Given the description of an element on the screen output the (x, y) to click on. 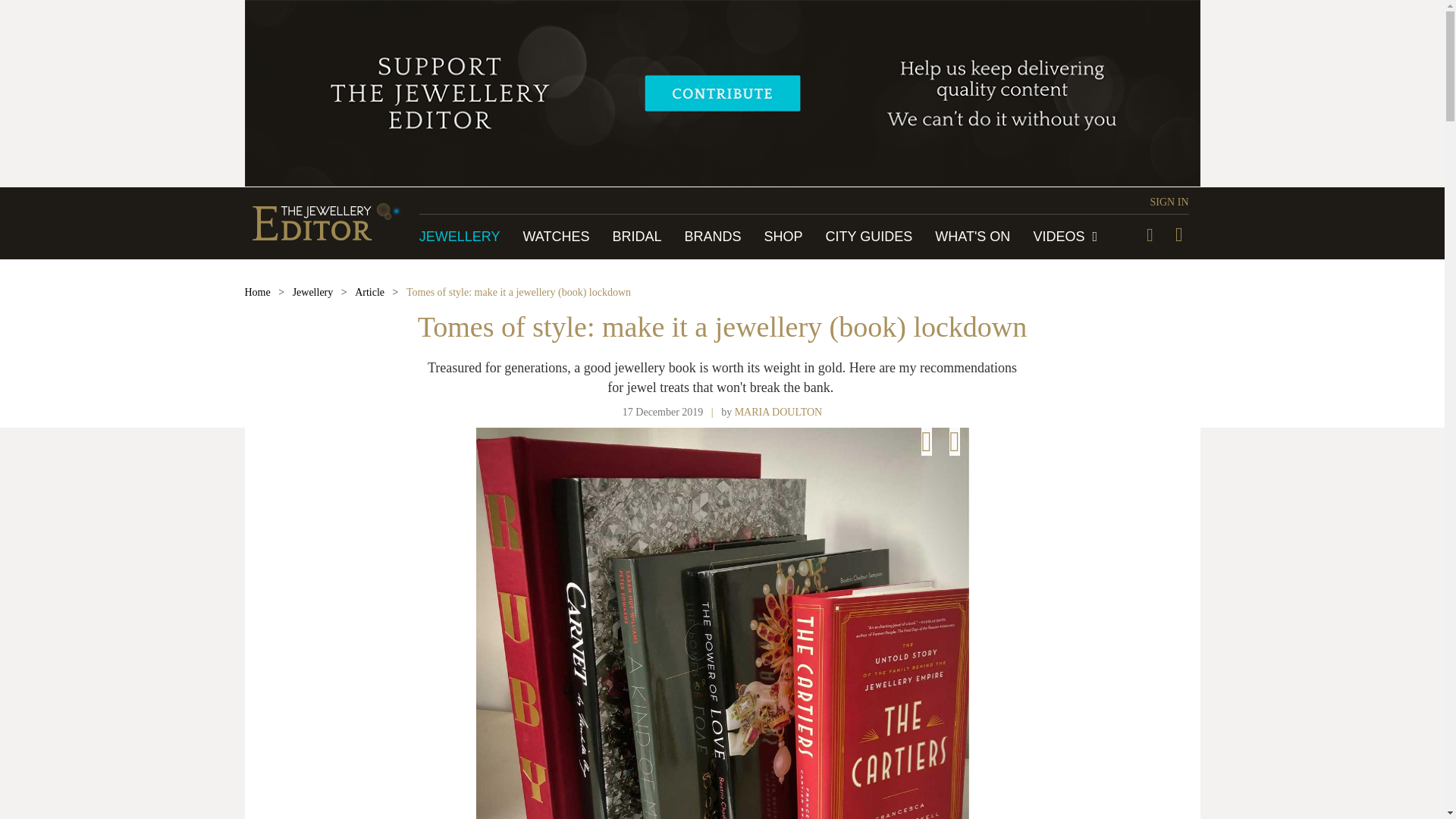
Home (256, 292)
WATCHES (555, 236)
CITY GUIDES (868, 236)
Article (369, 292)
Videos (1064, 236)
Go to Shop (783, 236)
WHAT'S ON (972, 236)
BRANDS (712, 236)
Go to Brands (712, 236)
Jewellery (312, 292)
